Given the description of an element on the screen output the (x, y) to click on. 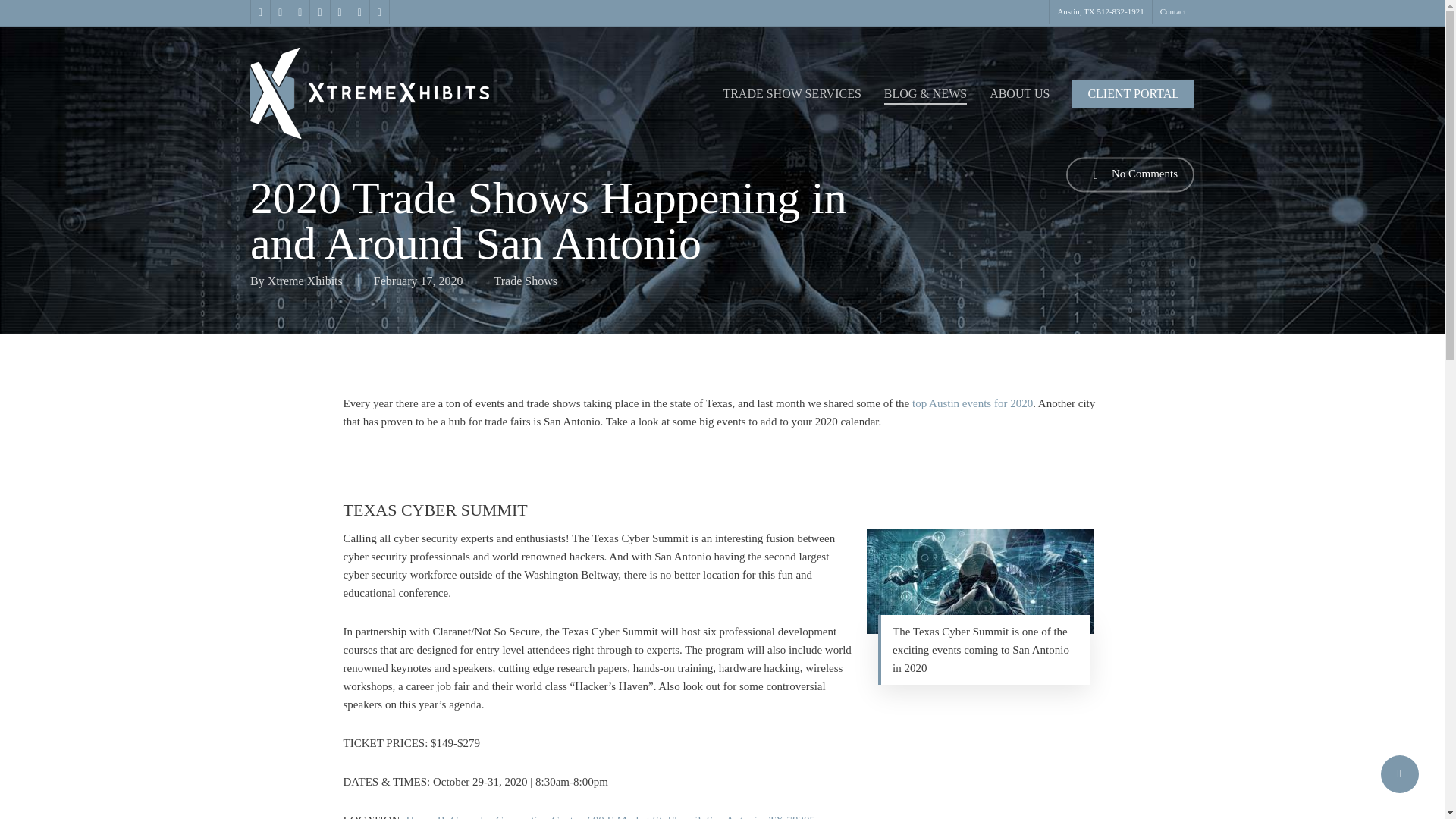
Austin, TX 512-832-1921 (1099, 11)
youtube (339, 12)
ABOUT US (1019, 93)
flickr (378, 12)
Trade Shows (526, 280)
twitter (259, 12)
Posts by Xtreme Xhibits (304, 280)
facebook (279, 12)
Xtreme Xhibits (304, 280)
Contact (1172, 11)
TRADE SHOW SERVICES (791, 93)
linkedin (318, 12)
pinterest (298, 12)
No Comments (1129, 174)
